Given the description of an element on the screen output the (x, y) to click on. 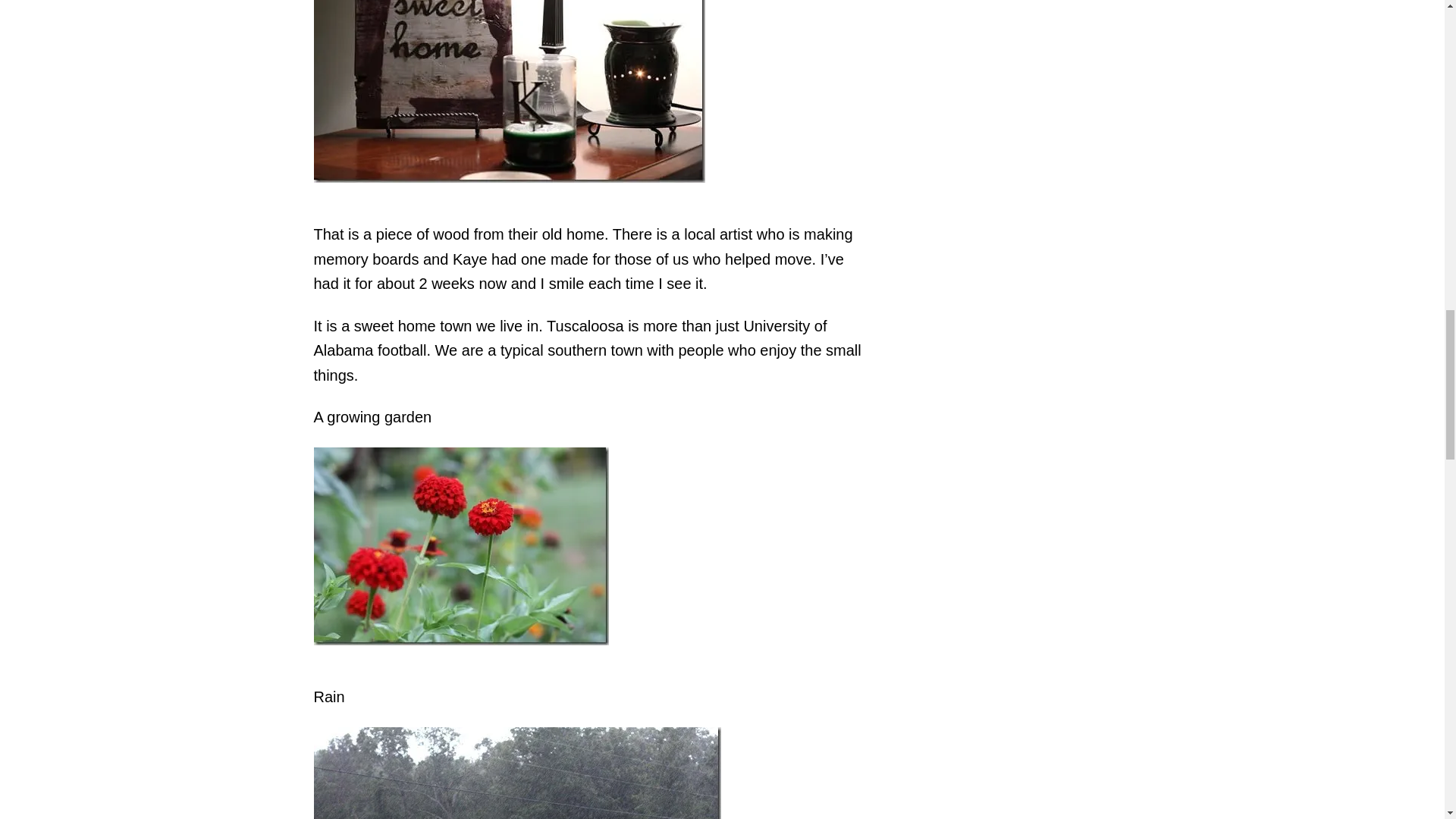
sign (509, 91)
flowera (461, 546)
rain (517, 773)
